Given the description of an element on the screen output the (x, y) to click on. 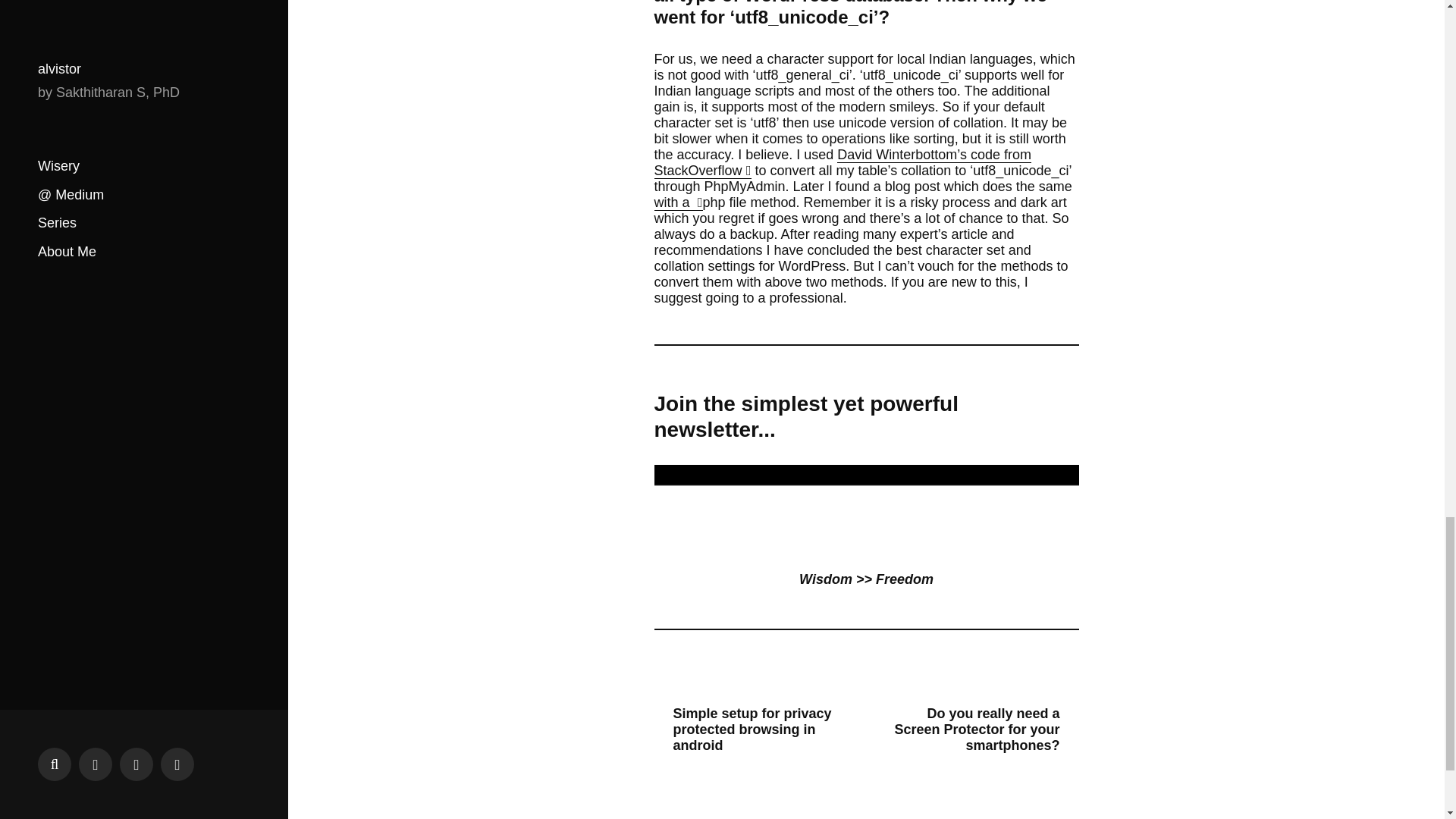
Do you really need a Screen Protector for your smartphones? (977, 729)
with a (677, 202)
Simple setup for privacy protected browsing in android (753, 729)
